Given the description of an element on the screen output the (x, y) to click on. 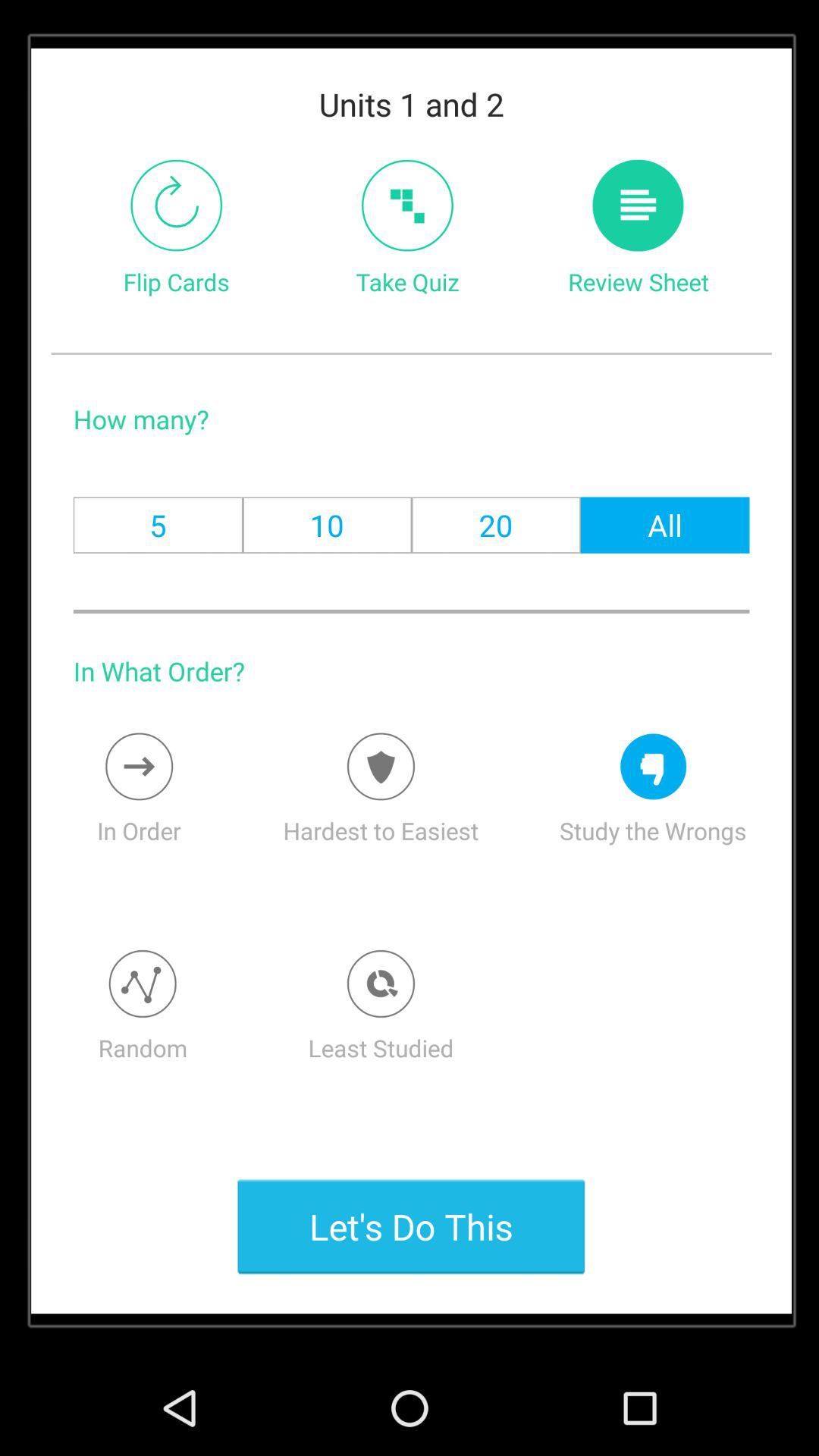
sort by wrong options (653, 766)
